Given the description of an element on the screen output the (x, y) to click on. 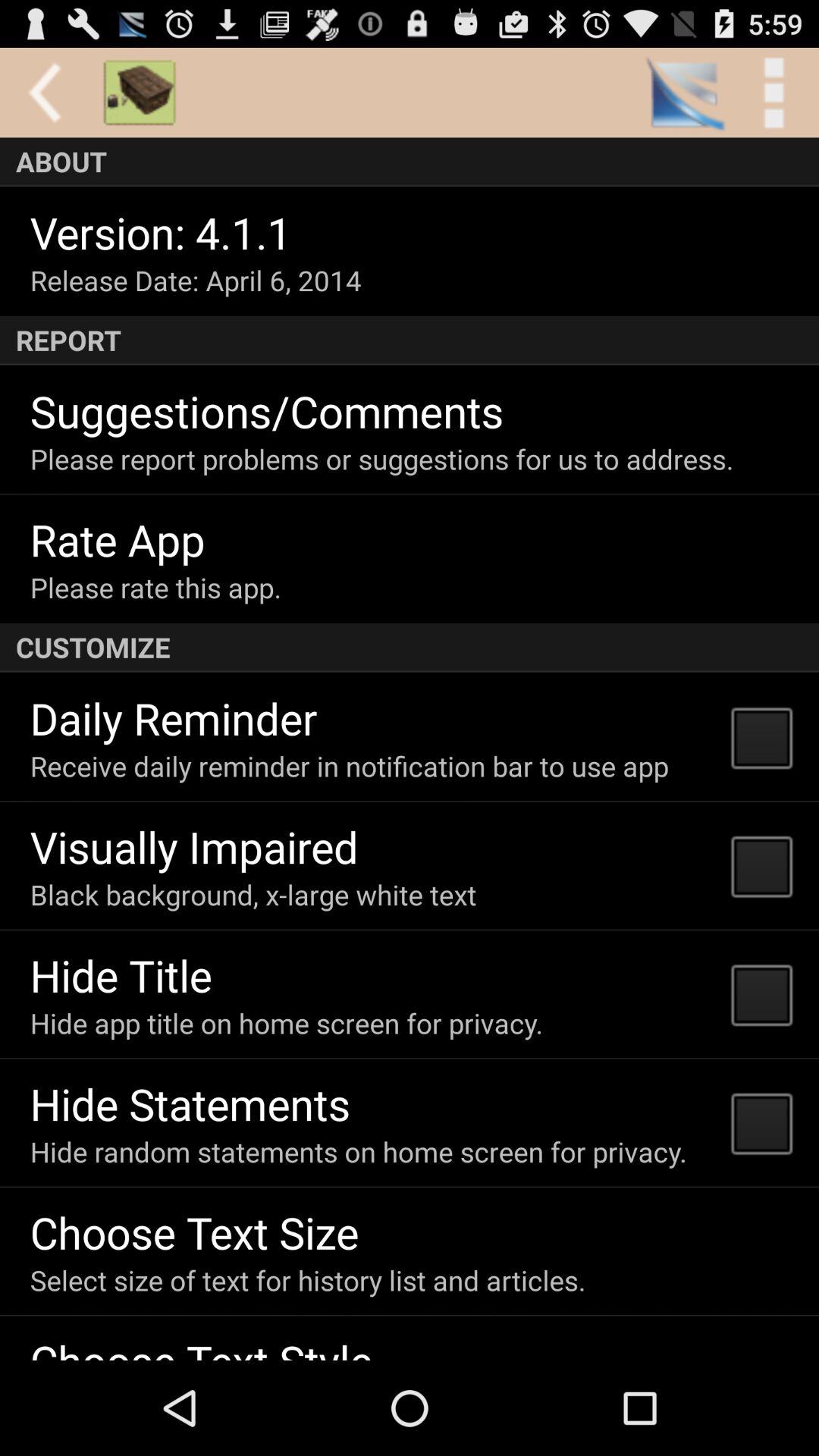
turn off item above the please report problems item (266, 410)
